Given the description of an element on the screen output the (x, y) to click on. 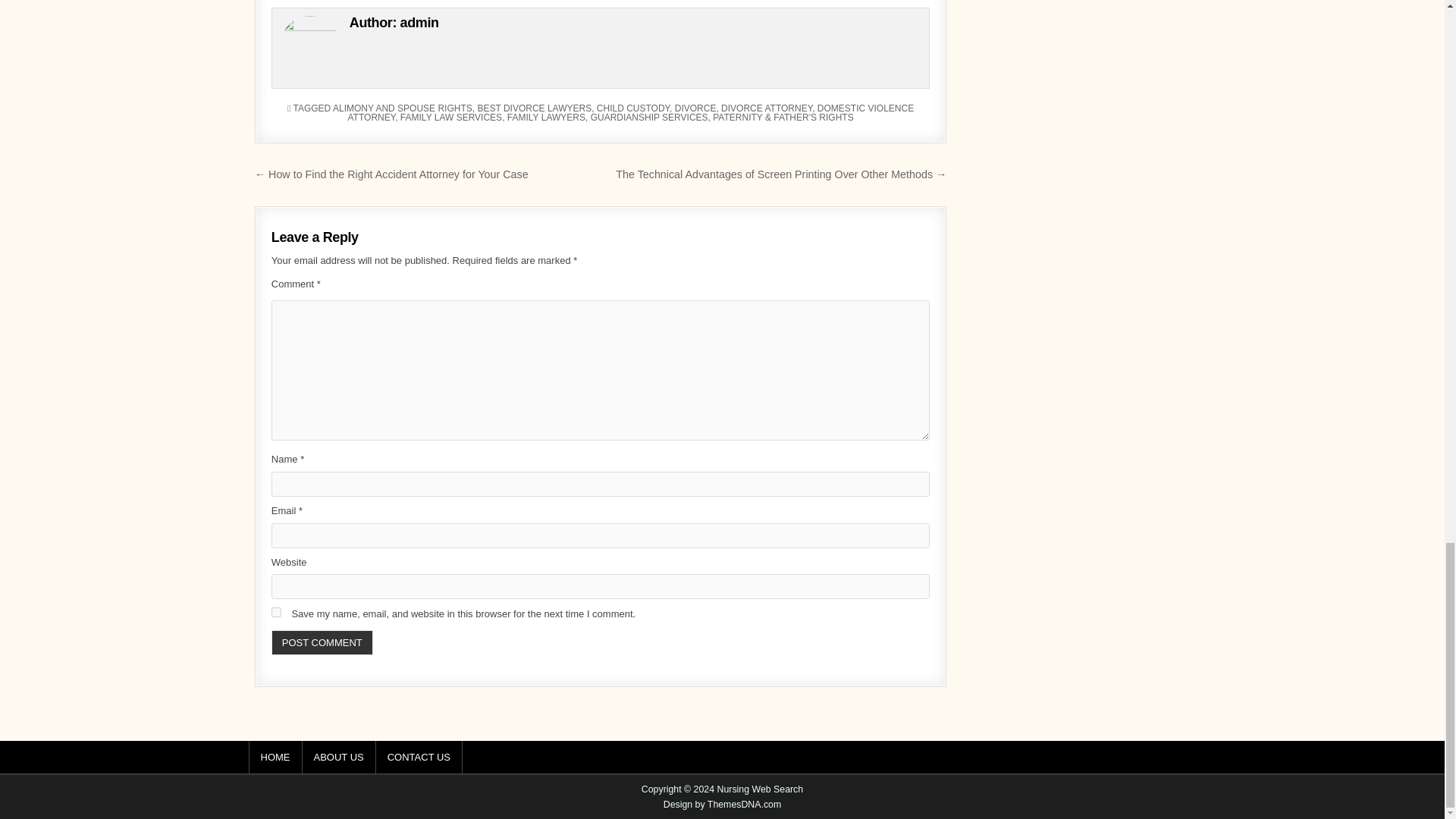
CHILD CUSTODY (632, 108)
yes (275, 612)
Post Comment (321, 642)
DIVORCE (695, 108)
admin (419, 22)
DOMESTIC VIOLENCE ATTORNEY (630, 112)
ABOUT US (338, 757)
Post Comment (321, 642)
FAMILY LAW SERVICES (451, 117)
DIVORCE ATTORNEY (766, 108)
BEST DIVORCE LAWYERS (534, 108)
CONTACT US (419, 757)
ALIMONY AND SPOUSE RIGHTS (402, 108)
Design by ThemesDNA.com (722, 804)
